Given the description of an element on the screen output the (x, y) to click on. 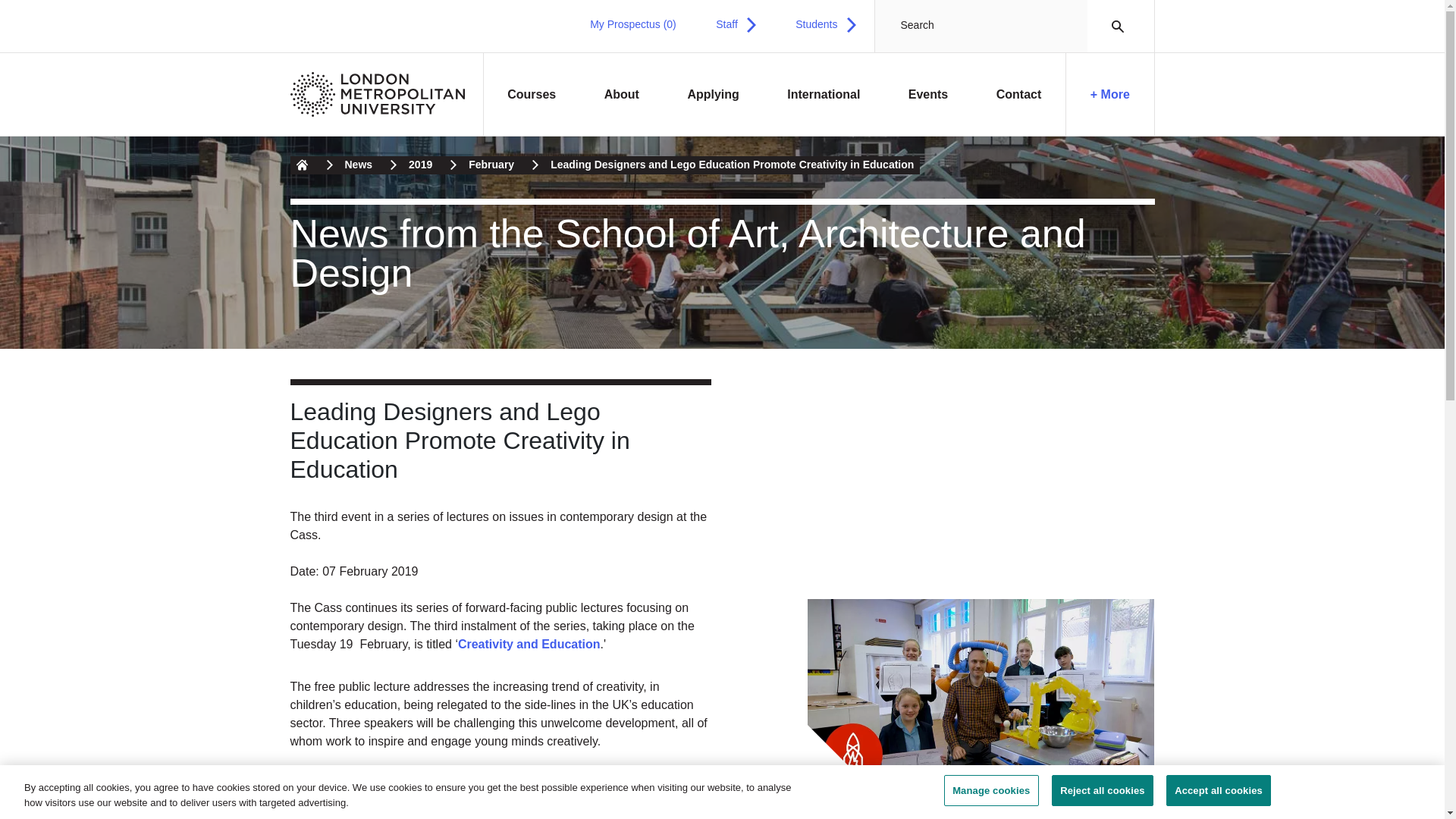
Staff (735, 24)
Students (825, 24)
Search (1113, 26)
Courses (531, 94)
About (621, 94)
Search (1113, 26)
